Given the description of an element on the screen output the (x, y) to click on. 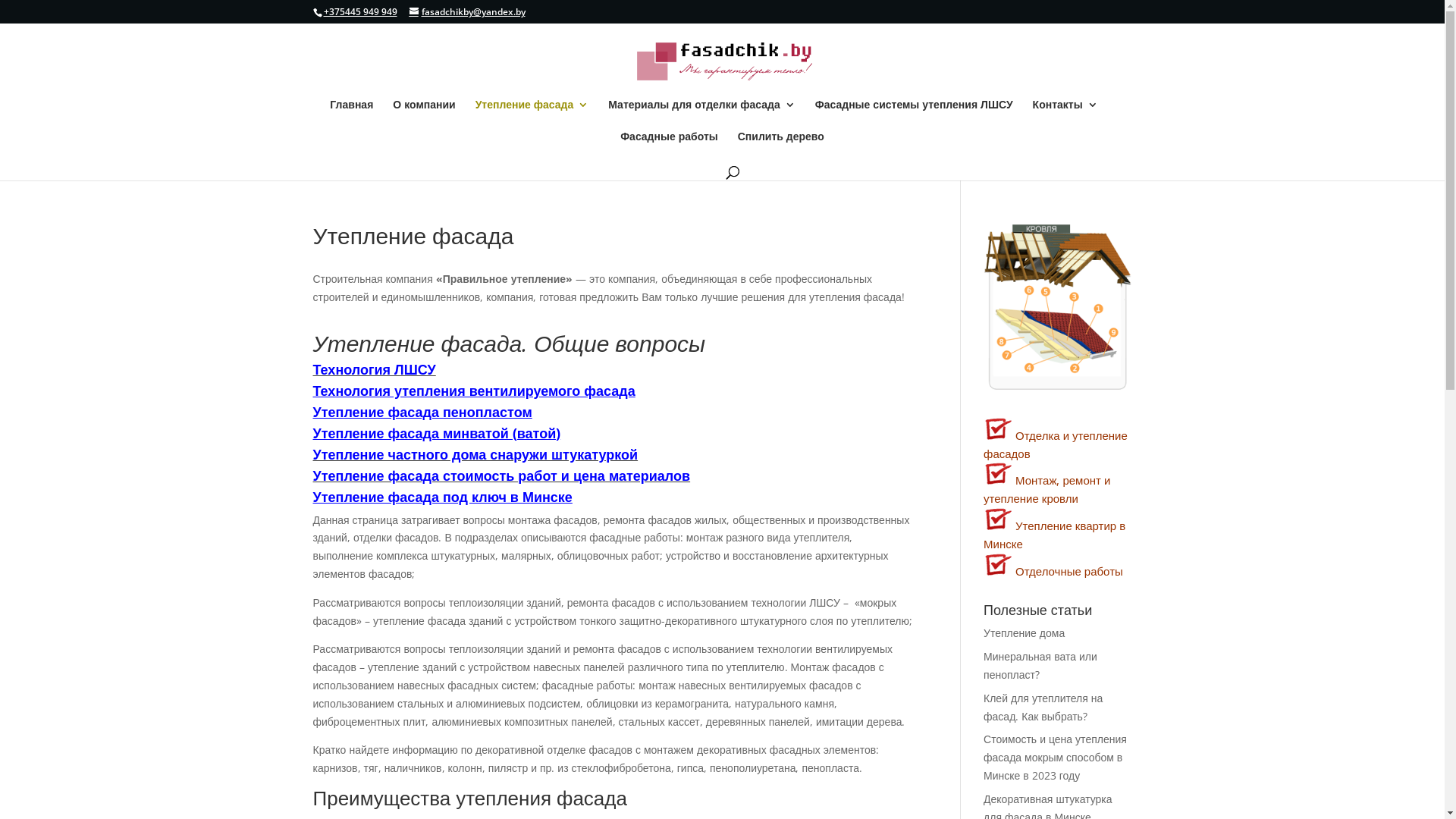
fasadchikby@yandex.by Element type: text (467, 11)
+375445 949 949 Element type: text (359, 11)
